Given the description of an element on the screen output the (x, y) to click on. 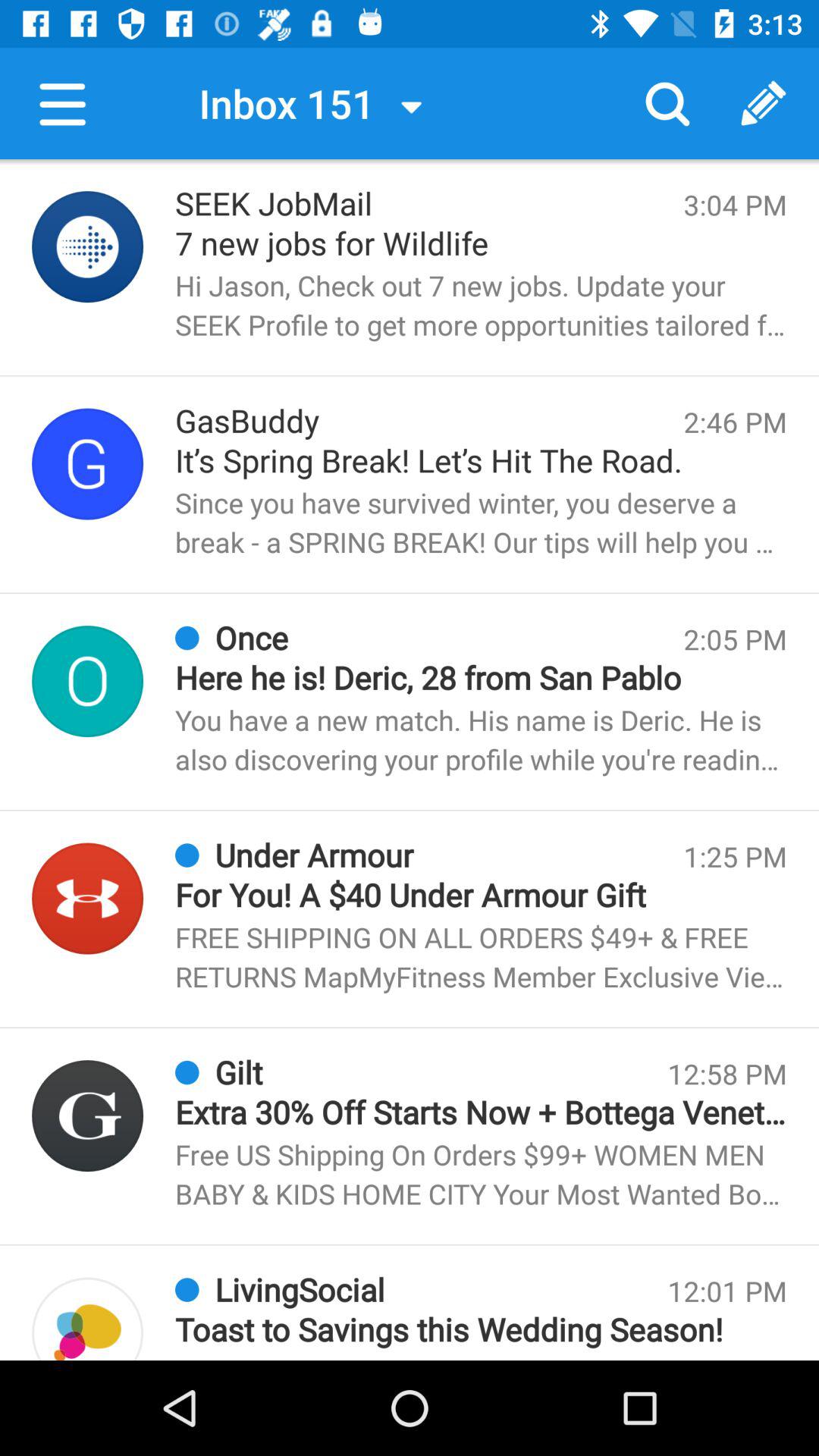
name box option (87, 681)
